Given the description of an element on the screen output the (x, y) to click on. 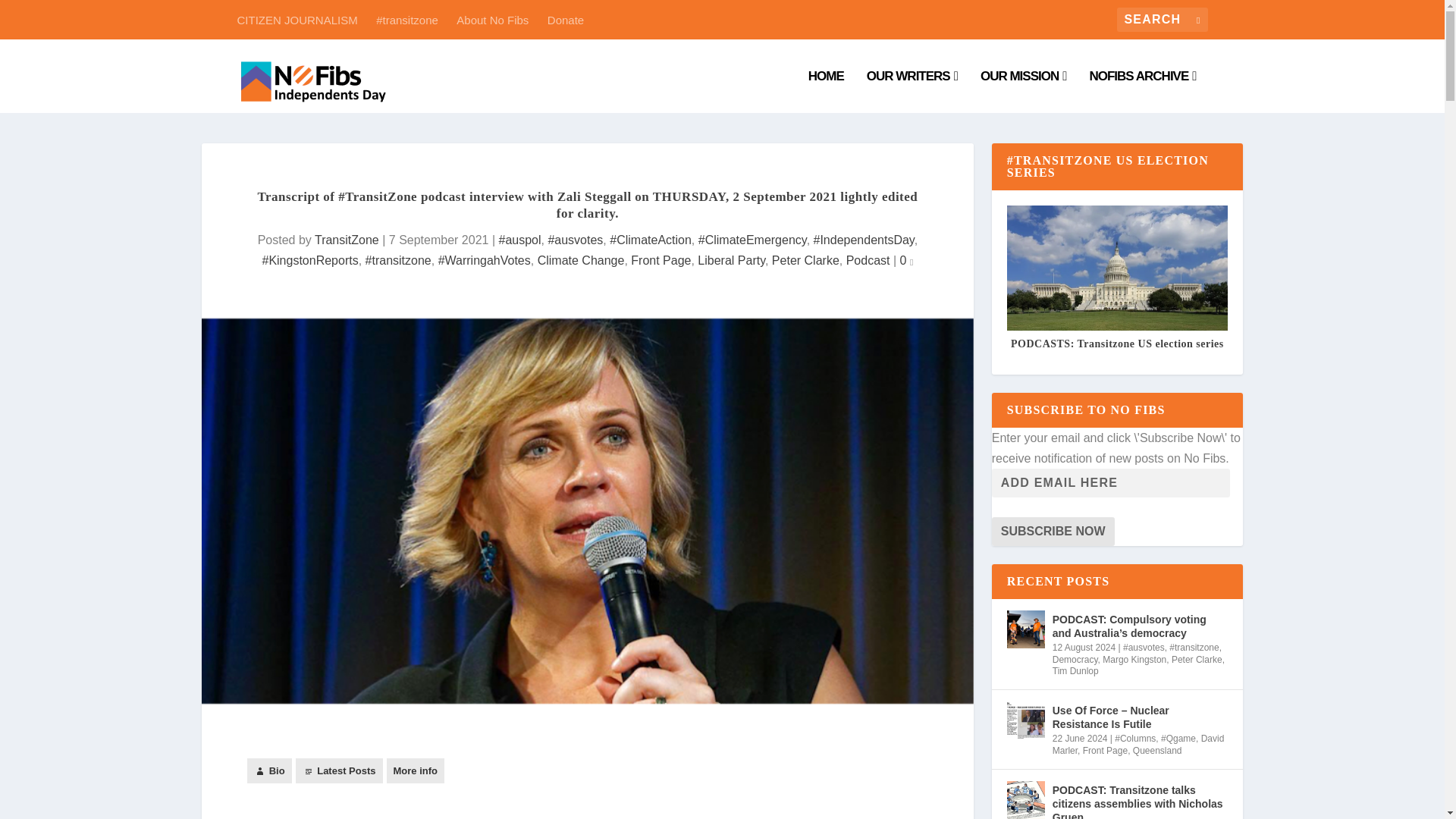
TransitZone (346, 239)
NOFIBS ARCHIVE (1142, 91)
Search for: (1161, 19)
CITIZEN JOURNALISM (295, 19)
Citizen journalism  (1023, 91)
OUR MISSION (1023, 91)
Climate Change (580, 259)
OUR WRITERS (912, 91)
Podcasts (406, 19)
Donate (565, 19)
